Given the description of an element on the screen output the (x, y) to click on. 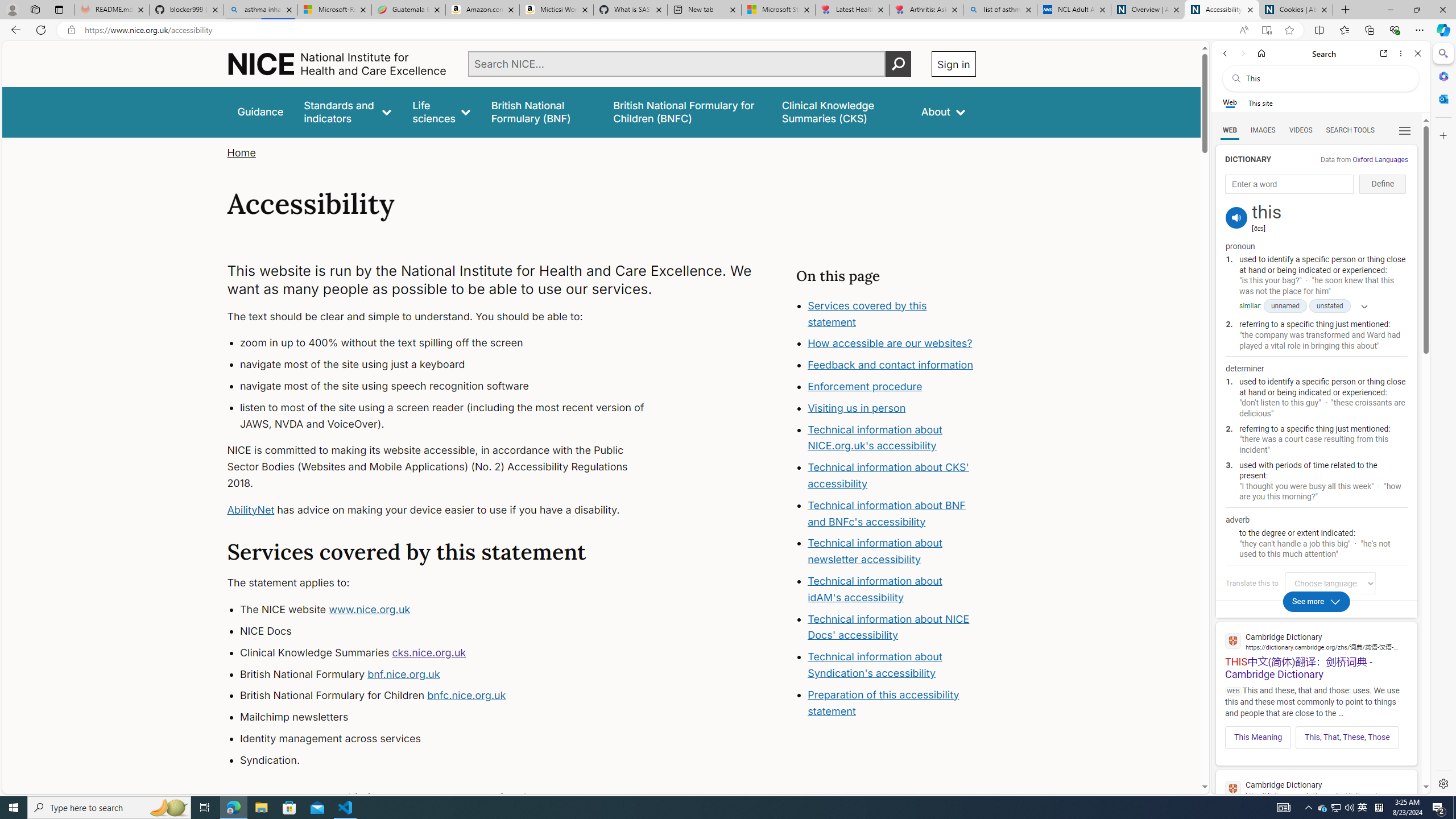
asthma inhaler - Search (260, 9)
This MeaningThis, That, These, Those (1315, 734)
The NICE website www.nice.org.uk (452, 609)
navigate most of the site using just a keyboard (452, 364)
